Given the description of an element on the screen output the (x, y) to click on. 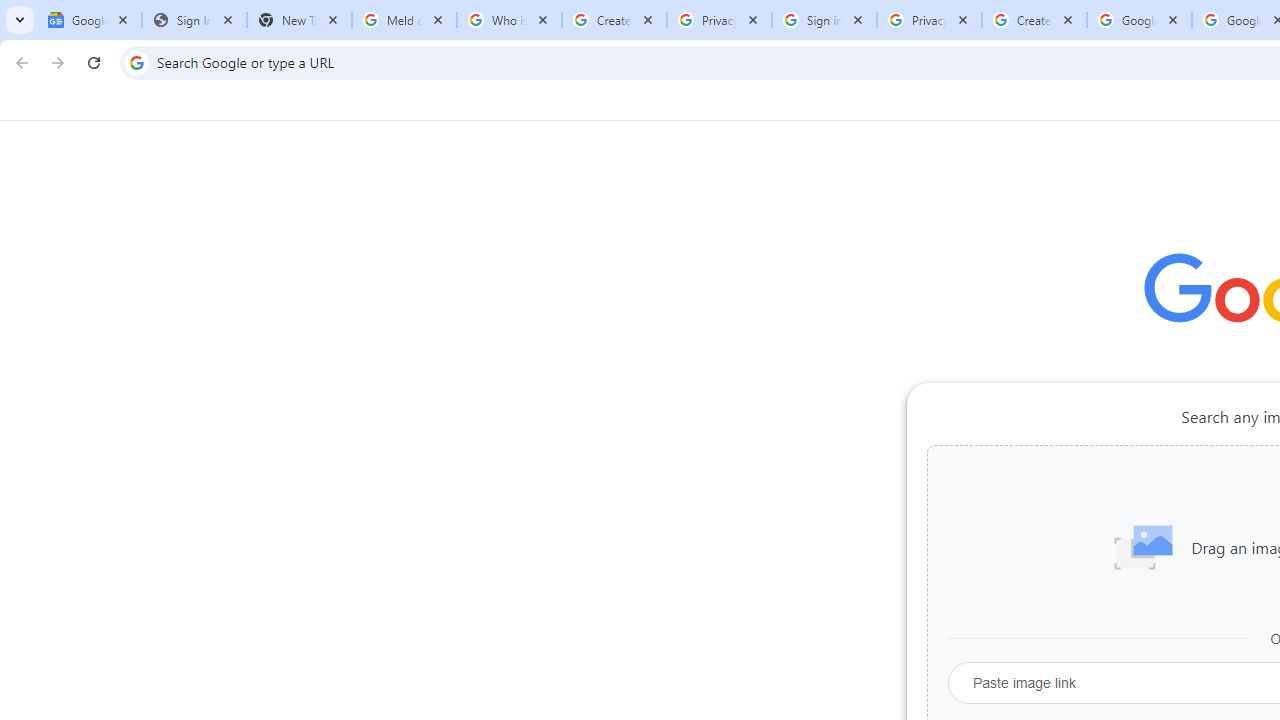
Chrome Web Store (1167, 504)
Create your Google Account (613, 20)
Sign in - Google Accounts (823, 20)
Google News (89, 20)
More actions for Chrome Web Store shortcut (1208, 466)
